Given the description of an element on the screen output the (x, y) to click on. 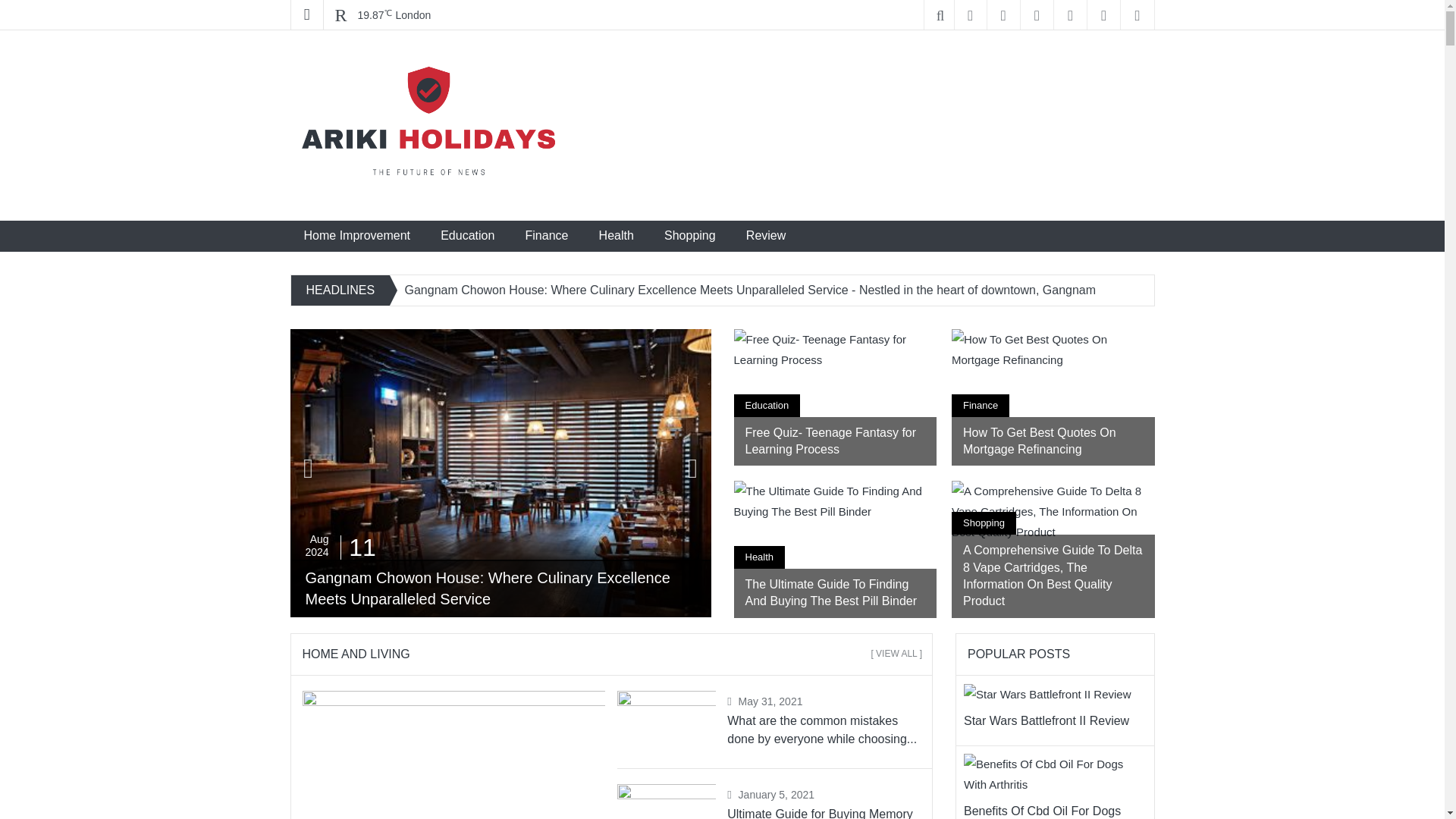
Search (15, 6)
Shopping (689, 235)
Health (616, 235)
Review (765, 235)
Education (467, 235)
Home Improvement (356, 235)
